Given the description of an element on the screen output the (x, y) to click on. 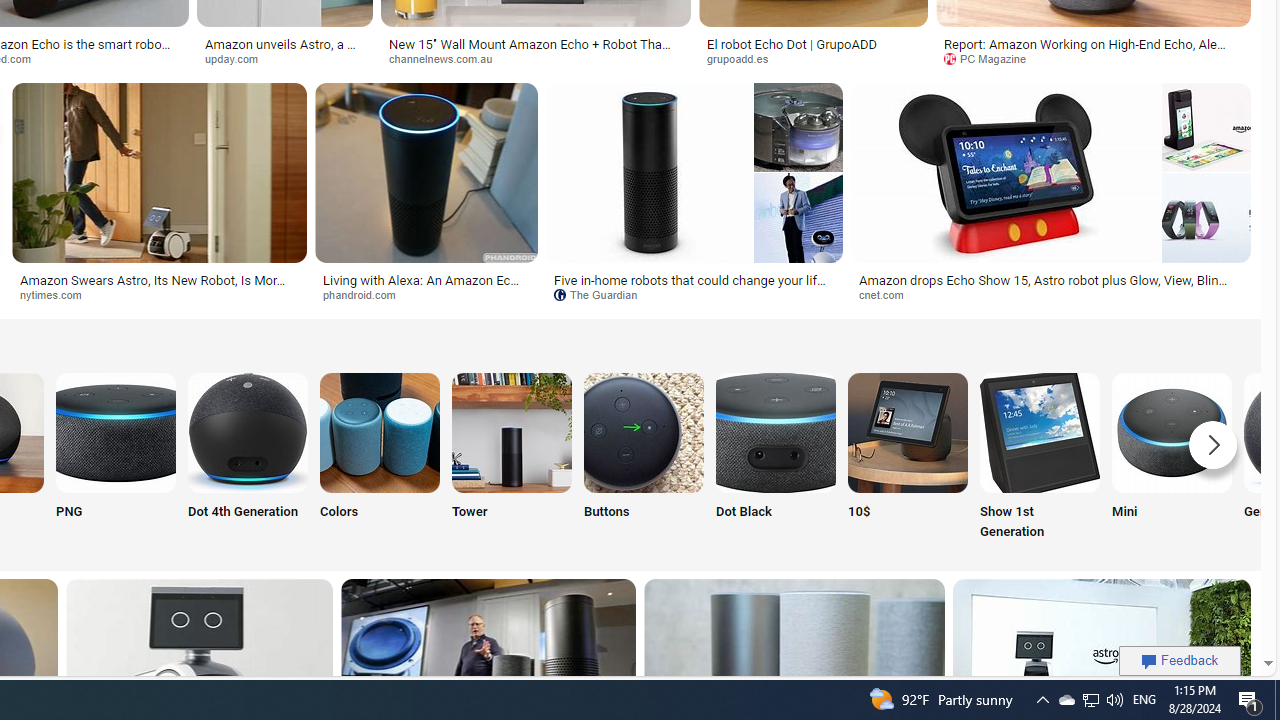
Mini (1171, 457)
Amazon Echo Show 1st Generation Show 1st Generation (1039, 458)
Amazon Echo Buttons Buttons (643, 458)
nytimes.com (58, 294)
Feedback (1179, 660)
cnet.com (1050, 295)
cnet.com (887, 294)
El robot Echo Dot | GrupoADD (813, 44)
Colors (380, 457)
Tower (511, 457)
Amazon Echo Colors Colors (380, 458)
